Given the description of an element on the screen output the (x, y) to click on. 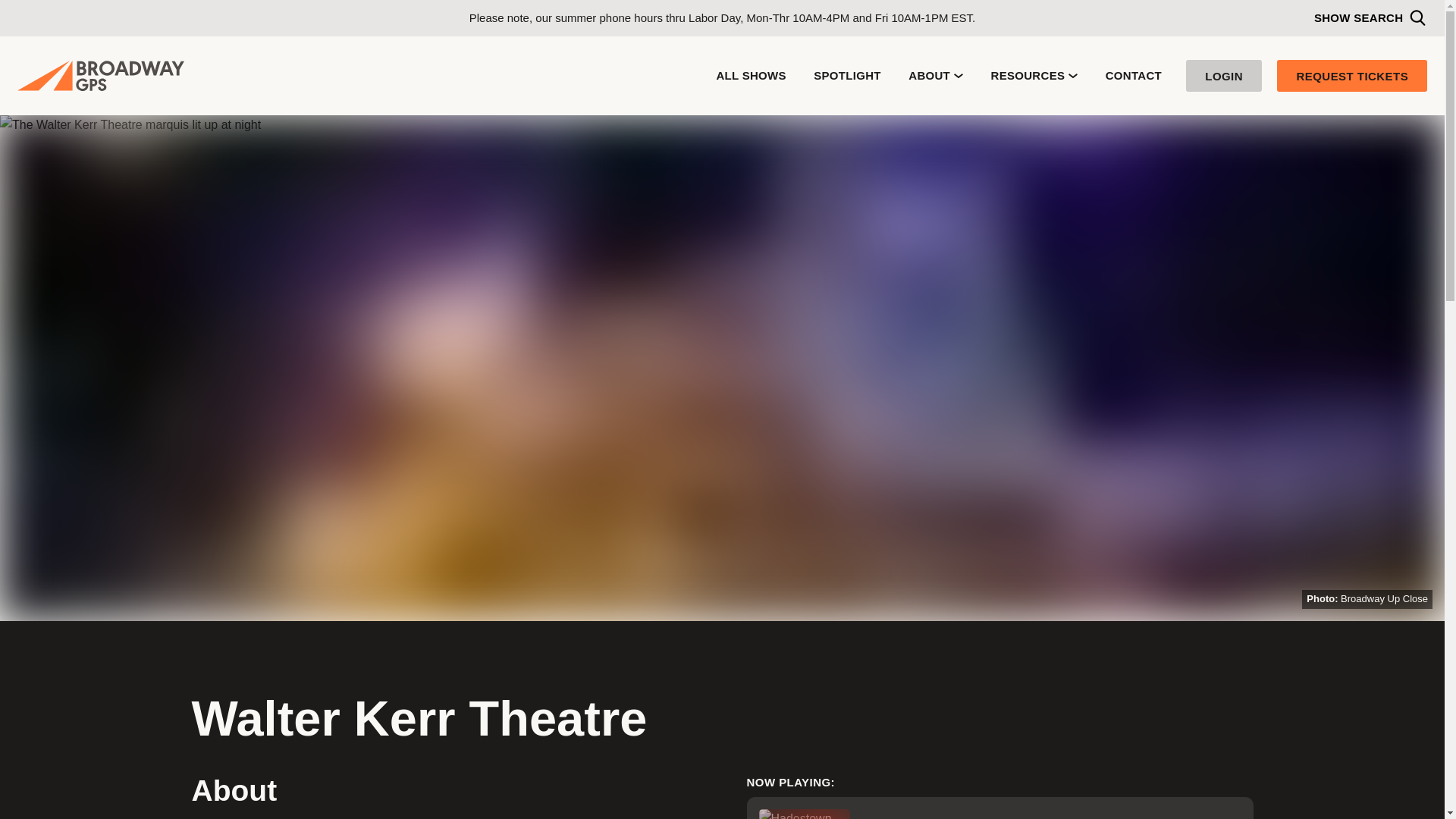
Hadestown (998, 807)
CONTACT (1133, 75)
RESOURCES (1034, 75)
SHOW SEARCH (1368, 17)
ALL SHOWS (751, 75)
SPOTLIGHT (847, 75)
